Given the description of an element on the screen output the (x, y) to click on. 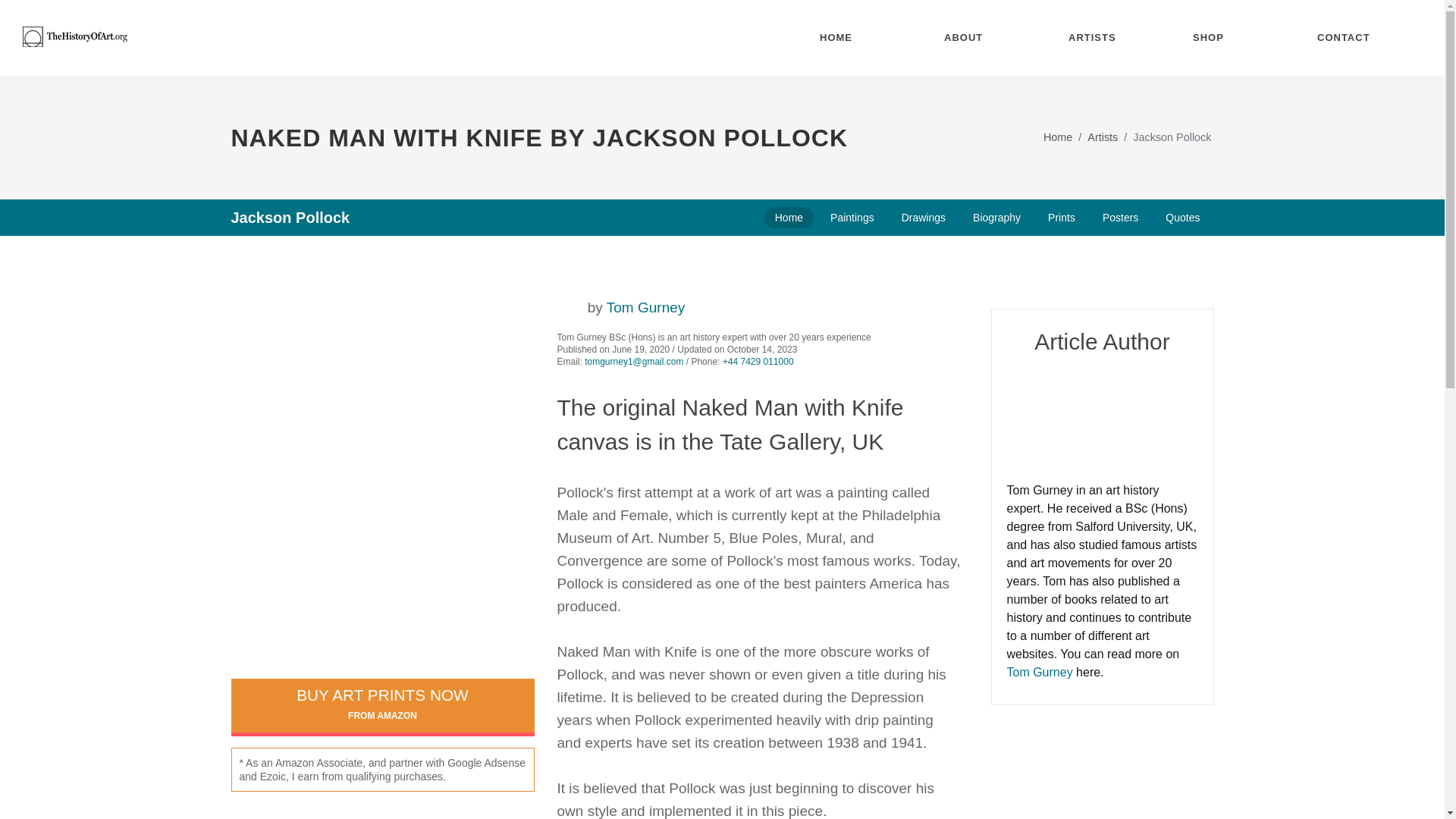
ABOUT (975, 38)
ARTISTS (1099, 38)
HOME (850, 38)
